Given the description of an element on the screen output the (x, y) to click on. 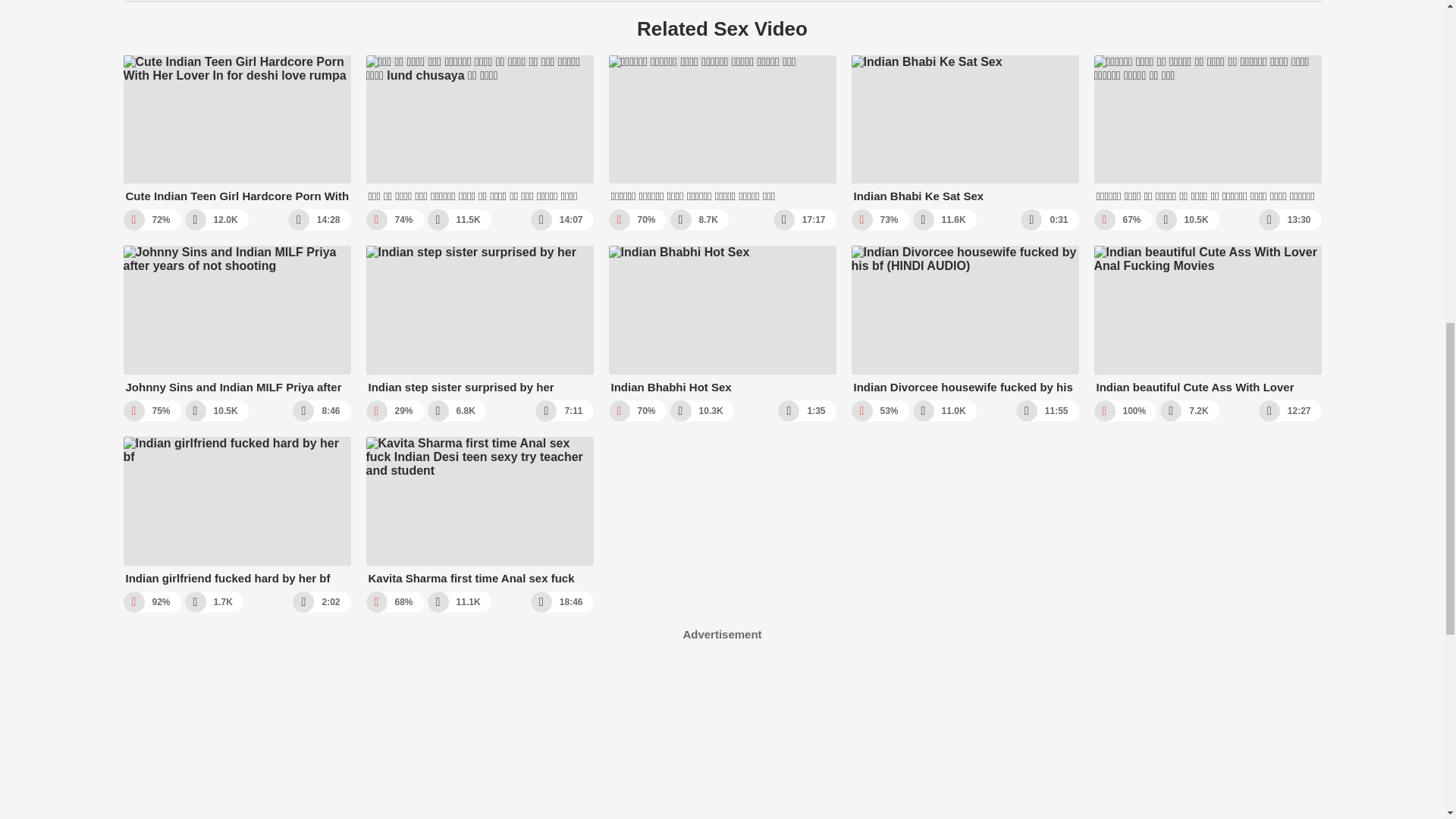
Indian girlfriend fucked hard by her bf (236, 511)
Indian Bhabhi Hot Sex (721, 319)
Indian Bhabi Ke Sat Sex (964, 128)
Indian girlfriend fucked hard by her bf (236, 511)
Indian beautiful Cute Ass With Lover Anal Fucking Movies (1206, 319)
Indian step sister surprised by her (478, 319)
Indian Bhabhi Hot Sex (721, 319)
